Given the description of an element on the screen output the (x, y) to click on. 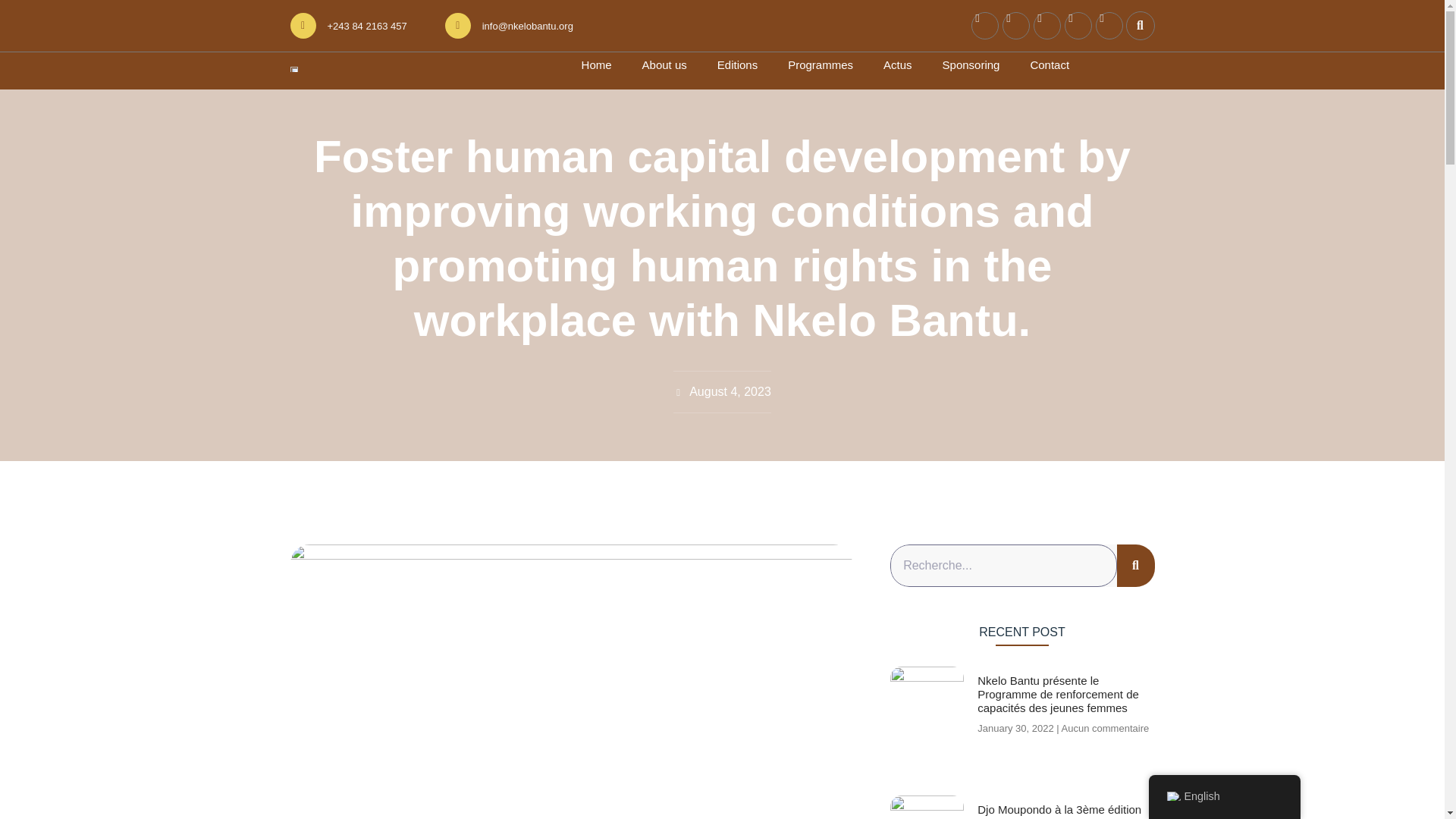
Sponsoring (971, 65)
Contact (1048, 65)
English (1172, 795)
August 4, 2023 (721, 392)
Home (595, 65)
Programmes (820, 65)
About us (664, 65)
Actus (897, 65)
Editions (737, 65)
